Given the description of an element on the screen output the (x, y) to click on. 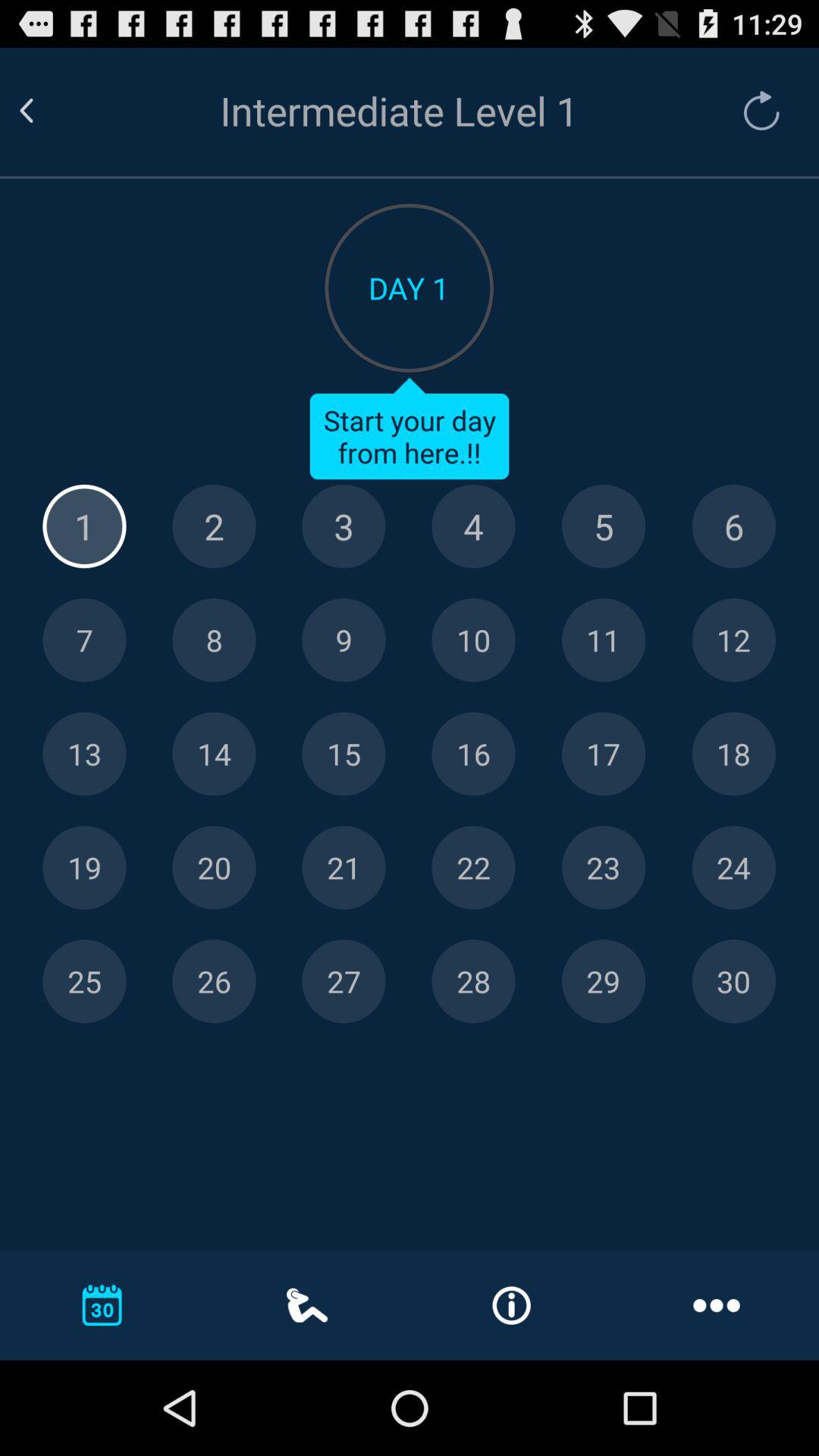
go to day 2 (213, 526)
